Given the description of an element on the screen output the (x, y) to click on. 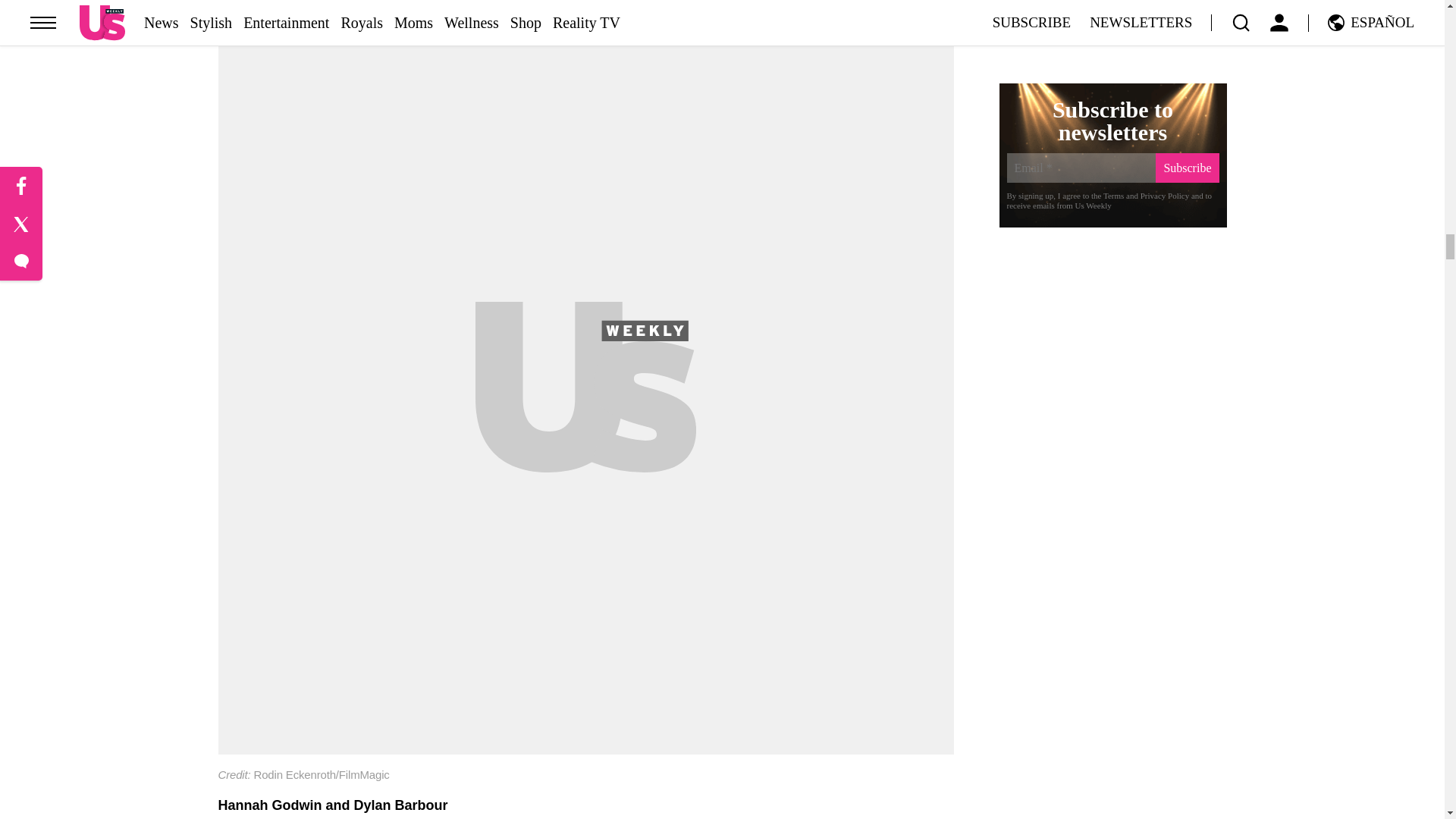
Dean Unglert and Caelynn Miller-Keyes (585, 27)
JoJo Fletcher and Jordan Rodgers (585, 781)
